Given the description of an element on the screen output the (x, y) to click on. 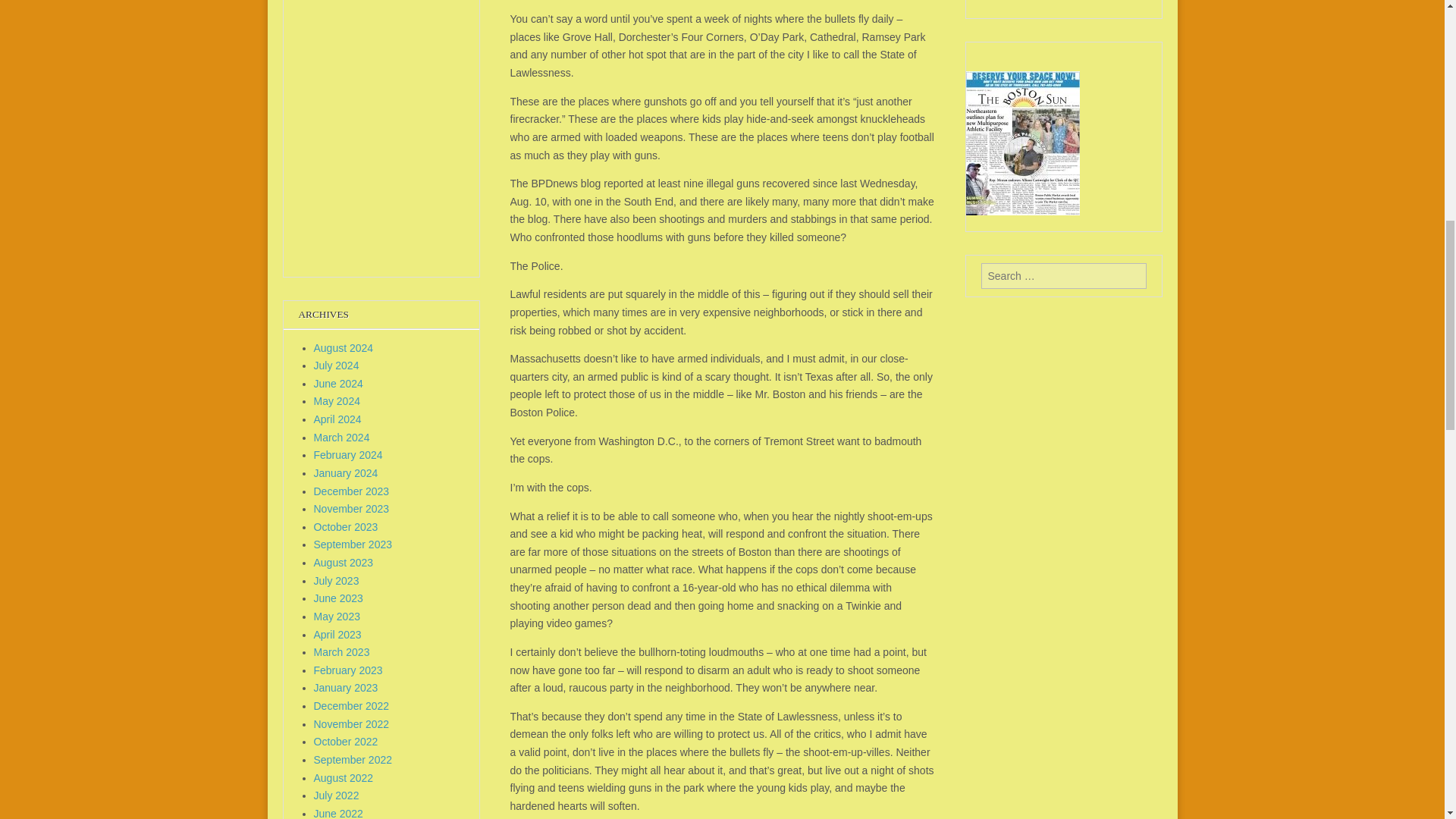
June 2024 (338, 383)
February 2024 (348, 454)
May 2024 (336, 400)
March 2024 (341, 437)
January 2024 (346, 472)
August 2024 (344, 347)
July 2024 (336, 365)
April 2024 (337, 419)
